Given the description of an element on the screen output the (x, y) to click on. 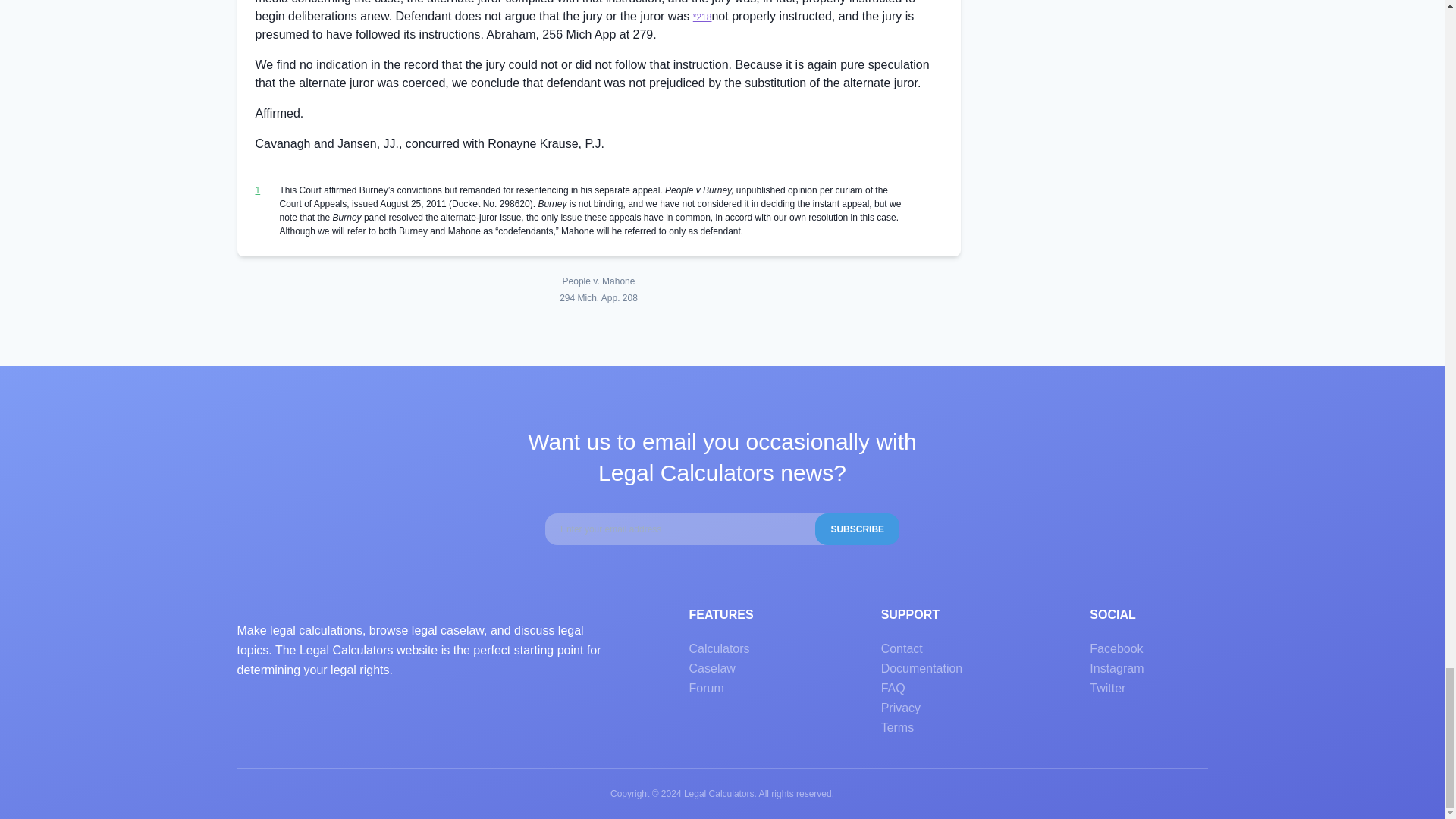
Privacy (900, 707)
Forum (705, 687)
Contact (901, 648)
Instagram (1115, 667)
Caselaw (711, 667)
Twitter (1107, 687)
Terms (897, 727)
Calculators (718, 648)
Facebook (1115, 648)
Documentation (921, 667)
